Given the description of an element on the screen output the (x, y) to click on. 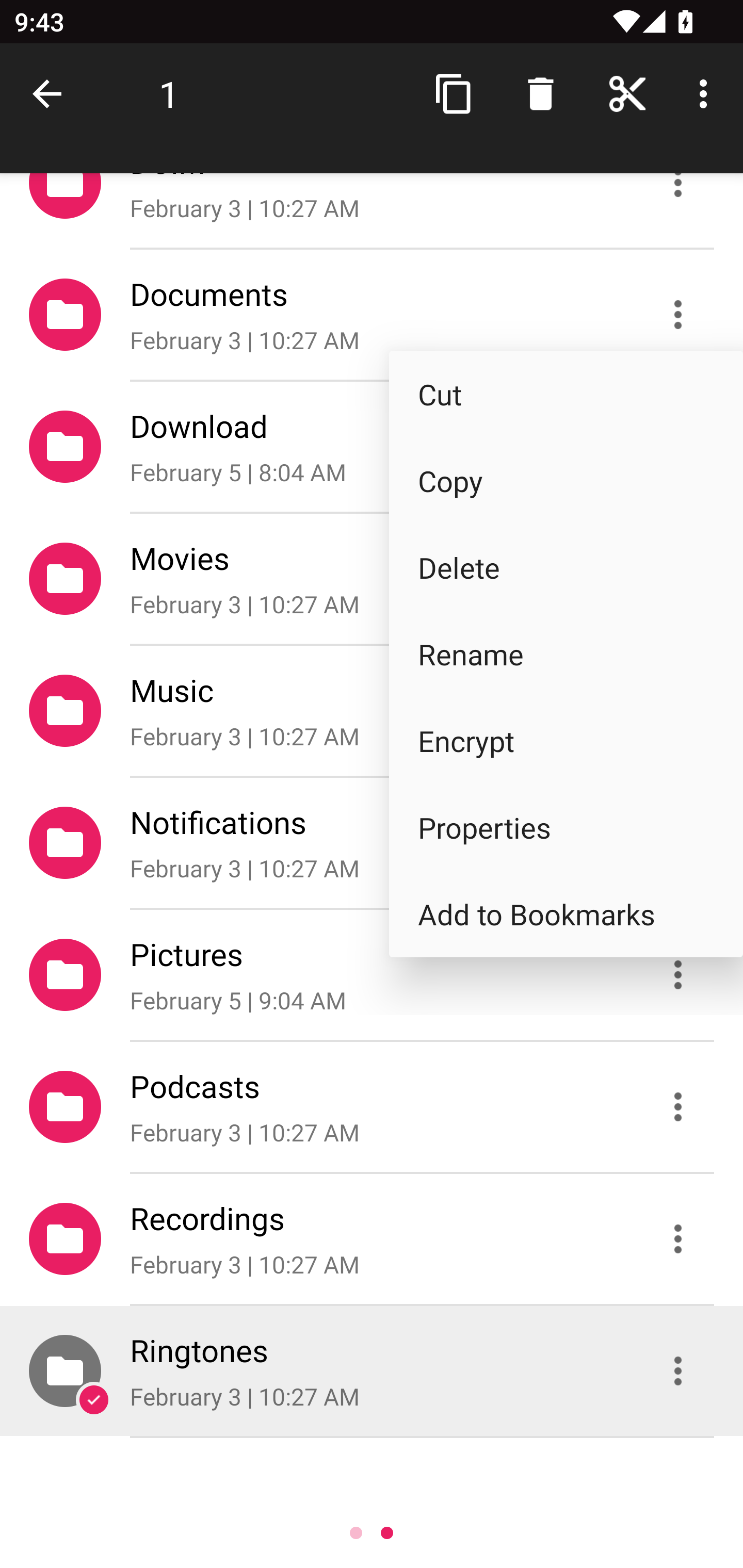
Cut (566, 394)
Copy (566, 480)
Delete (566, 566)
Rename (566, 653)
Encrypt (566, 740)
Properties (566, 827)
Add to Bookmarks (566, 914)
